Given the description of an element on the screen output the (x, y) to click on. 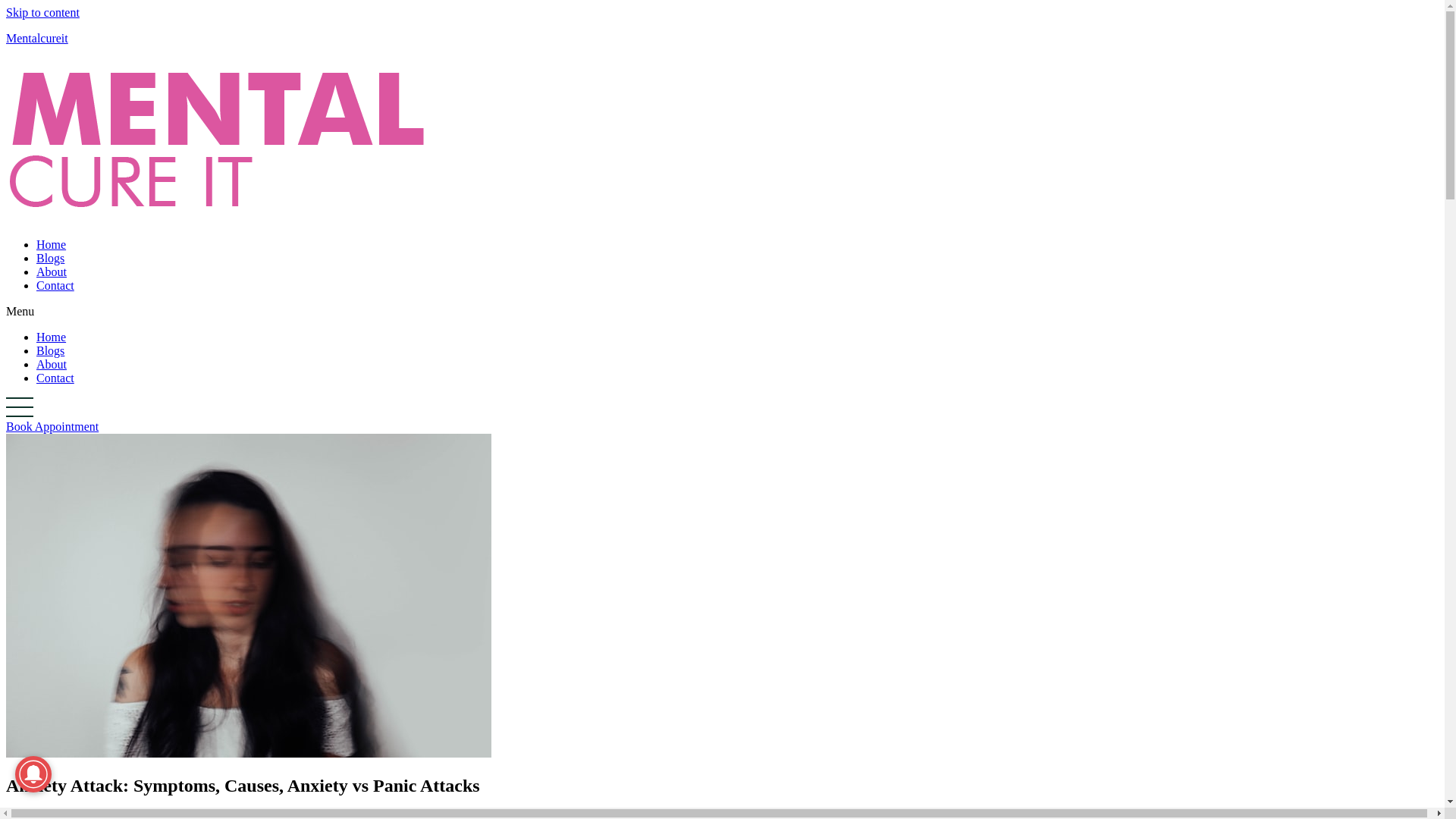
Kriti Joshi (225, 815)
Contact (55, 377)
Mentalcureit (36, 38)
About (51, 271)
Home (50, 244)
Skip to content (42, 11)
Leave a Comment (49, 815)
Mental Health (139, 815)
Contact (55, 285)
Mentalcureit (36, 38)
Book Appointment (52, 426)
Blogs (50, 257)
About (51, 364)
Home (50, 336)
Skip to content (42, 11)
